Given the description of an element on the screen output the (x, y) to click on. 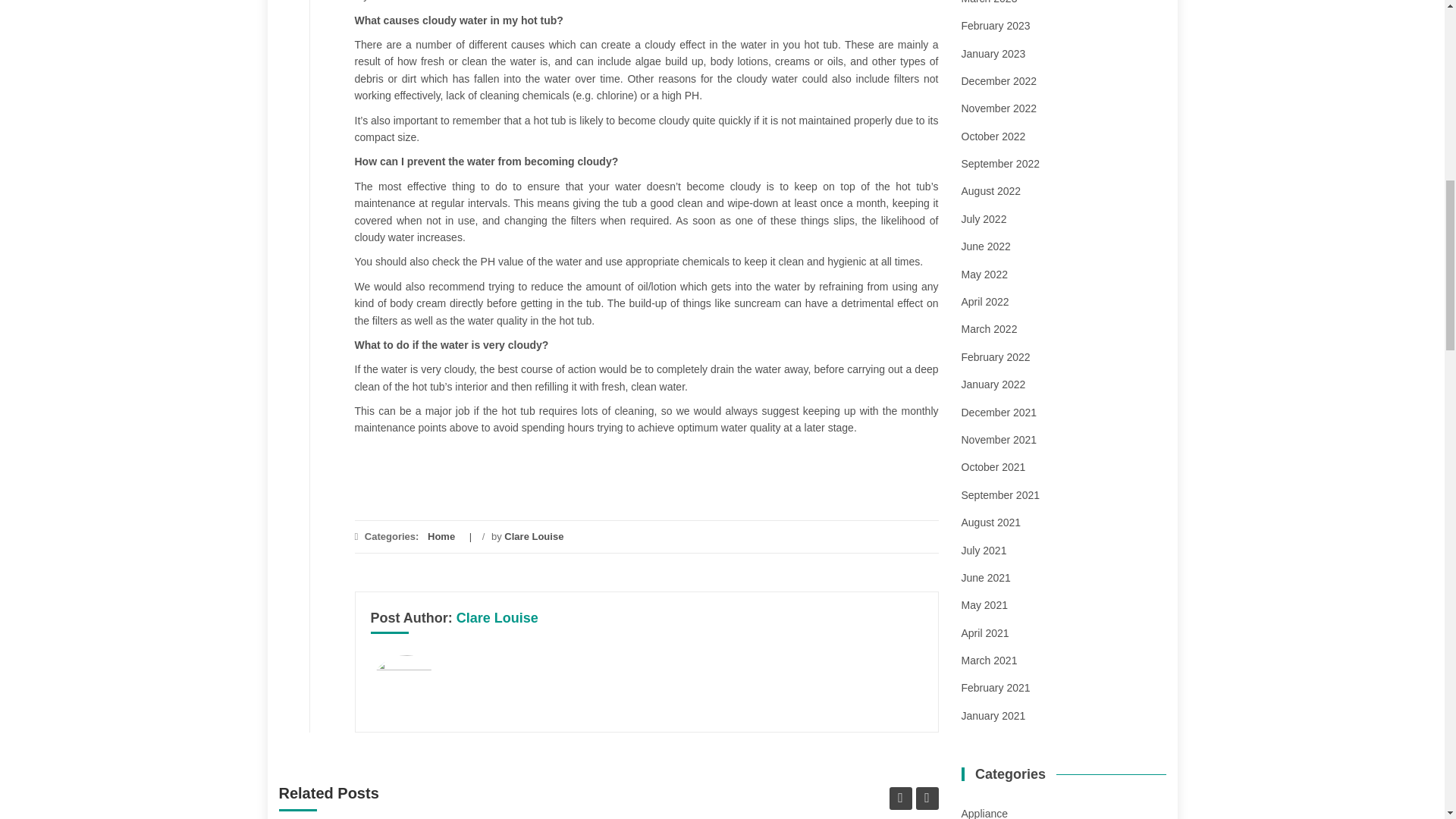
Clare Louise (497, 617)
Clare Louise (533, 536)
Home (441, 536)
